Given the description of an element on the screen output the (x, y) to click on. 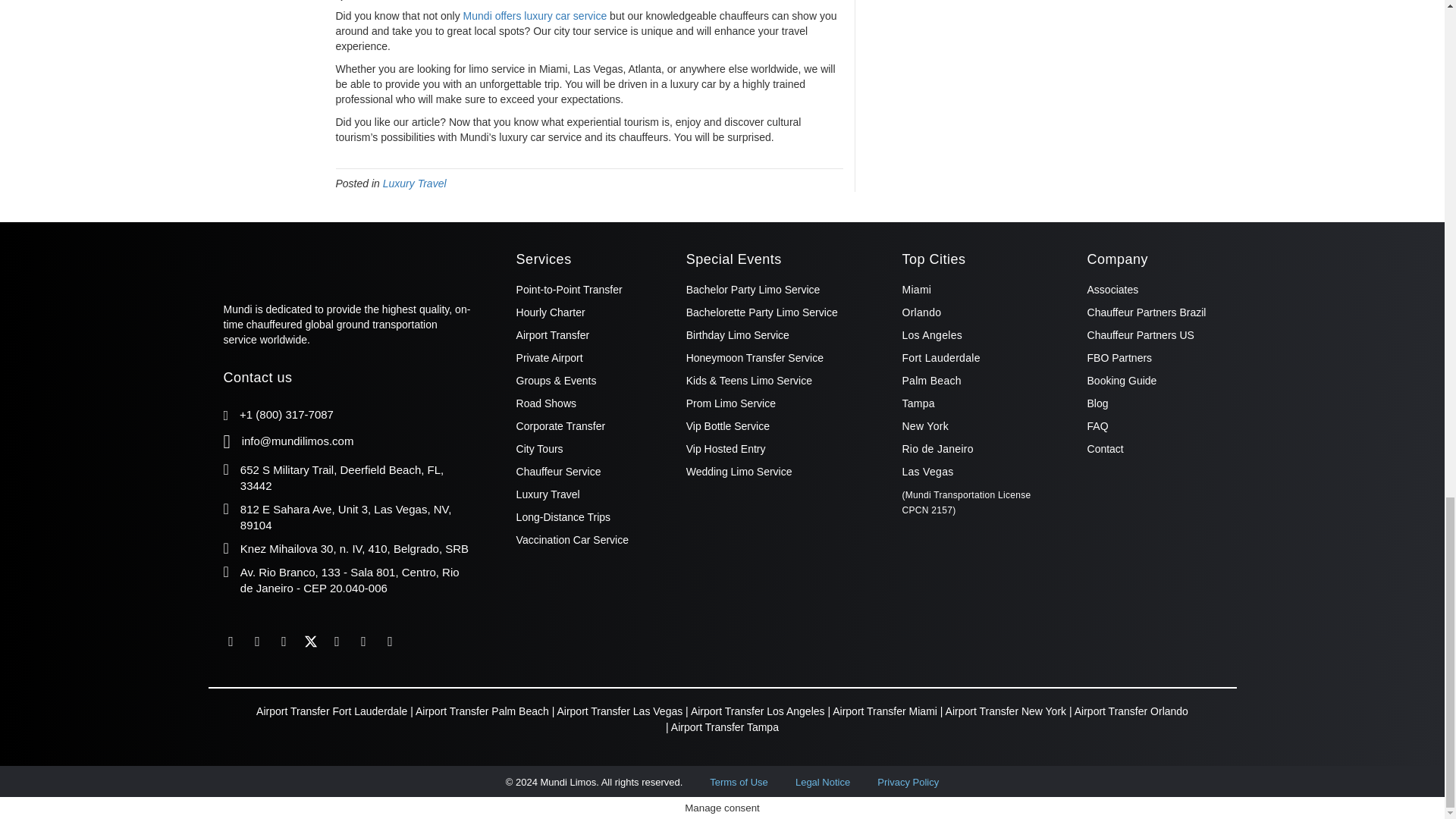
Facebook Mundi Limos (230, 641)
Mundi offers luxury car service (535, 15)
Luxury Travel (414, 183)
Logo Mundi (298, 261)
Canal Youtube Mundi Limos (336, 641)
Linkedin Mundi Luxury Transportation (257, 641)
Instagram Mundi Limousine Florida (283, 641)
